Given the description of an element on the screen output the (x, y) to click on. 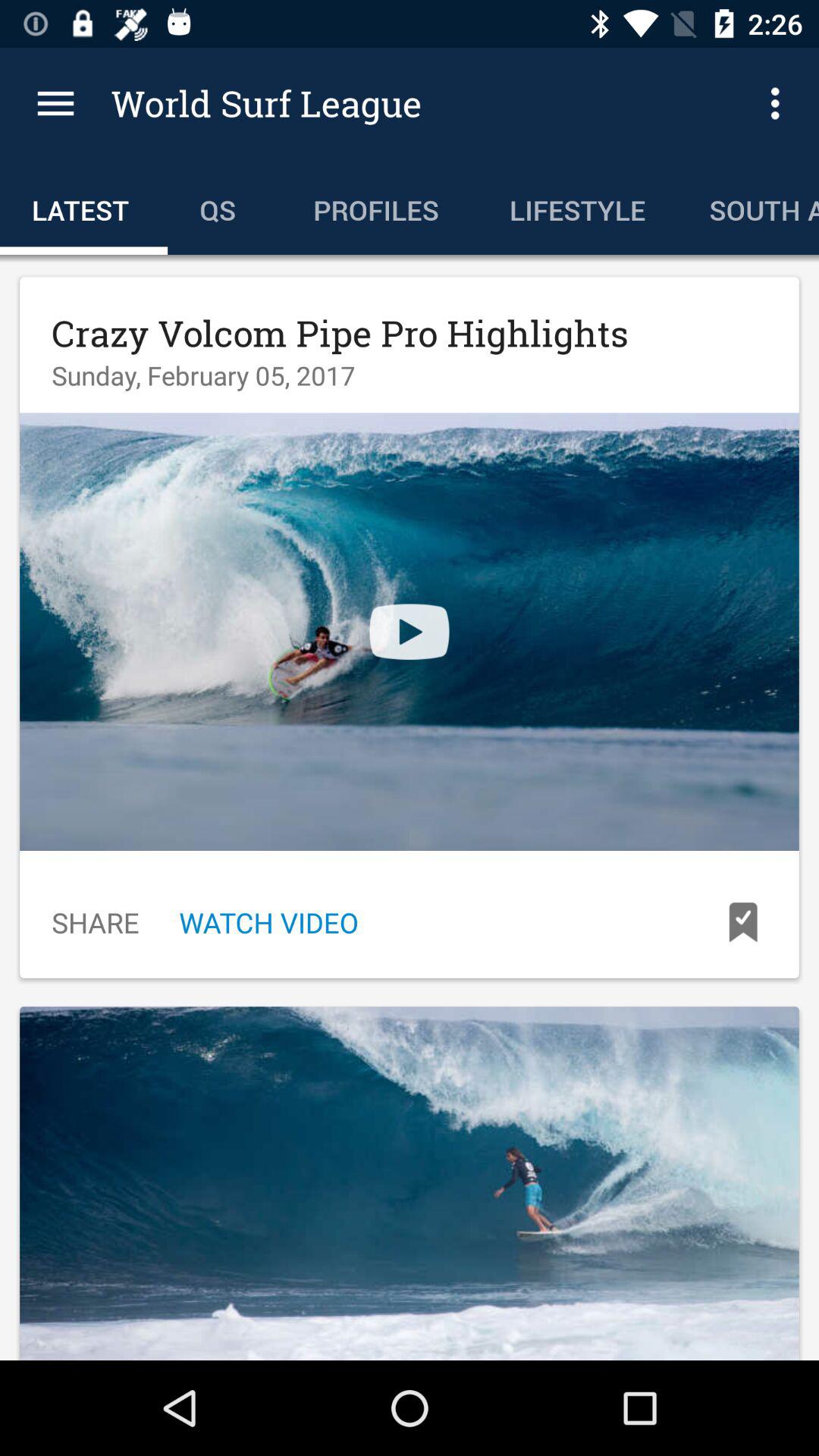
select the image at the bottom of the page (409, 1183)
select the three dotted icon (779, 103)
select the option next to lifestyle (748, 206)
